Given the description of an element on the screen output the (x, y) to click on. 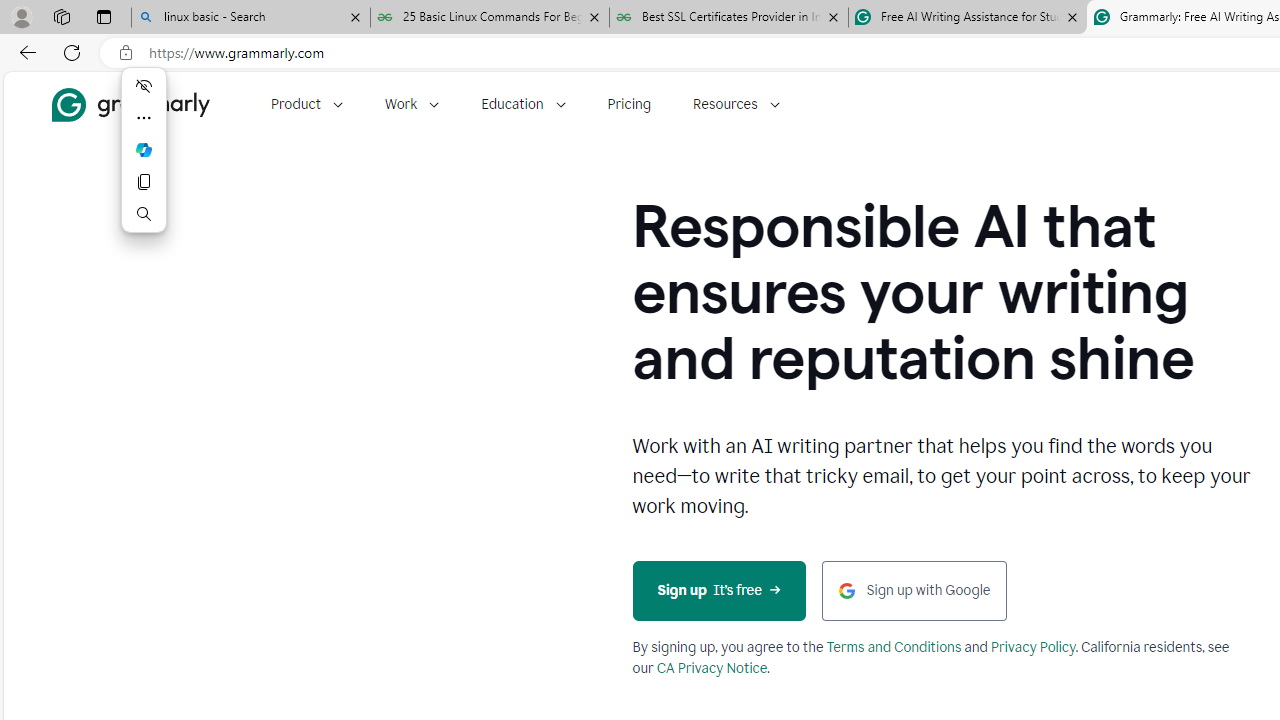
Terms and Conditions (893, 647)
Privacy Policy (1033, 647)
Work (412, 104)
